Given the description of an element on the screen output the (x, y) to click on. 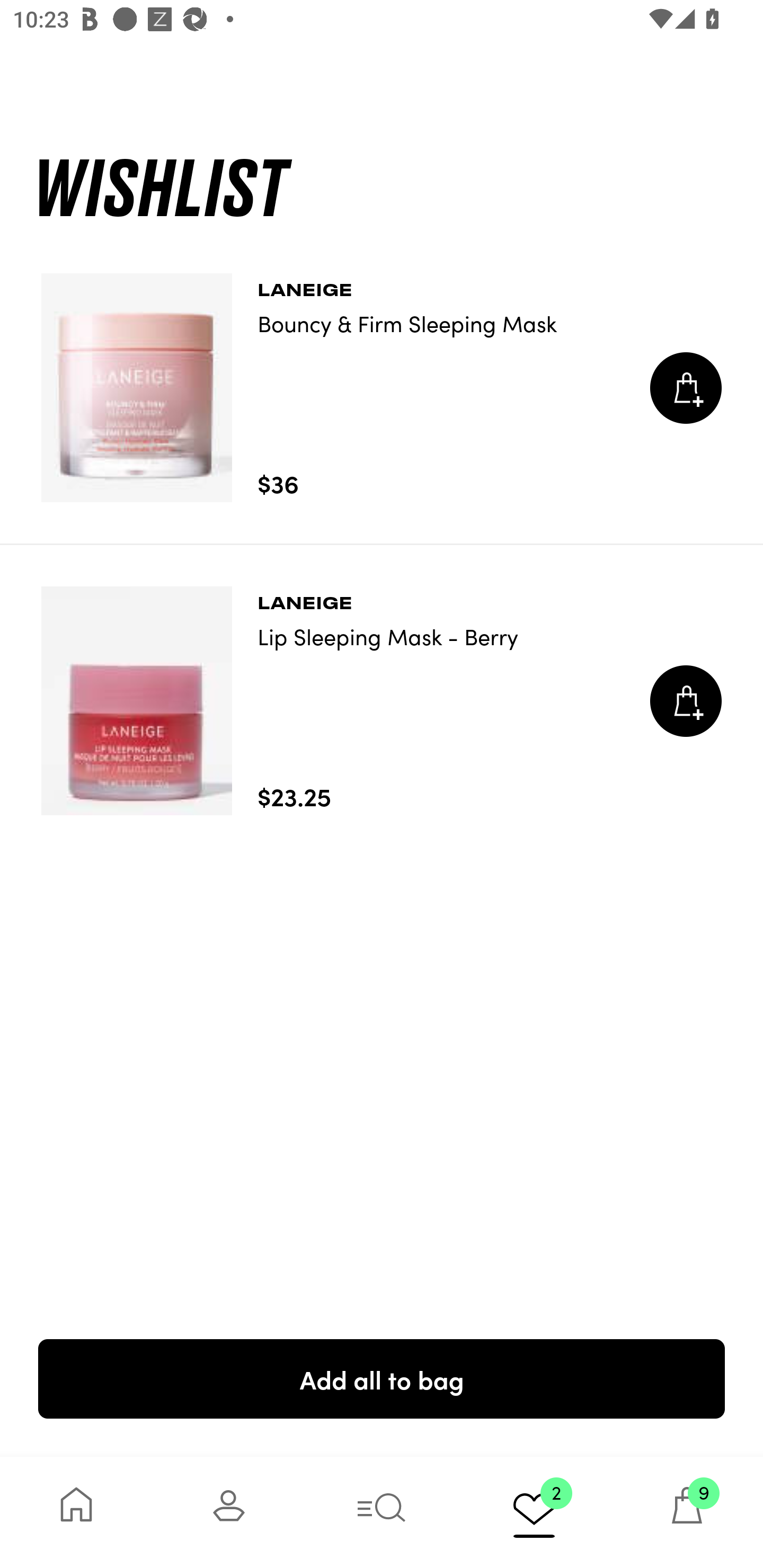
LANEIGE Bouncy & Firm Sleeping Mask $36 (381, 388)
LANEIGE Lip Sleeping Mask - Berry $23.25 (381, 700)
Add all to bag (381, 1379)
2 (533, 1512)
9 (686, 1512)
